Given the description of an element on the screen output the (x, y) to click on. 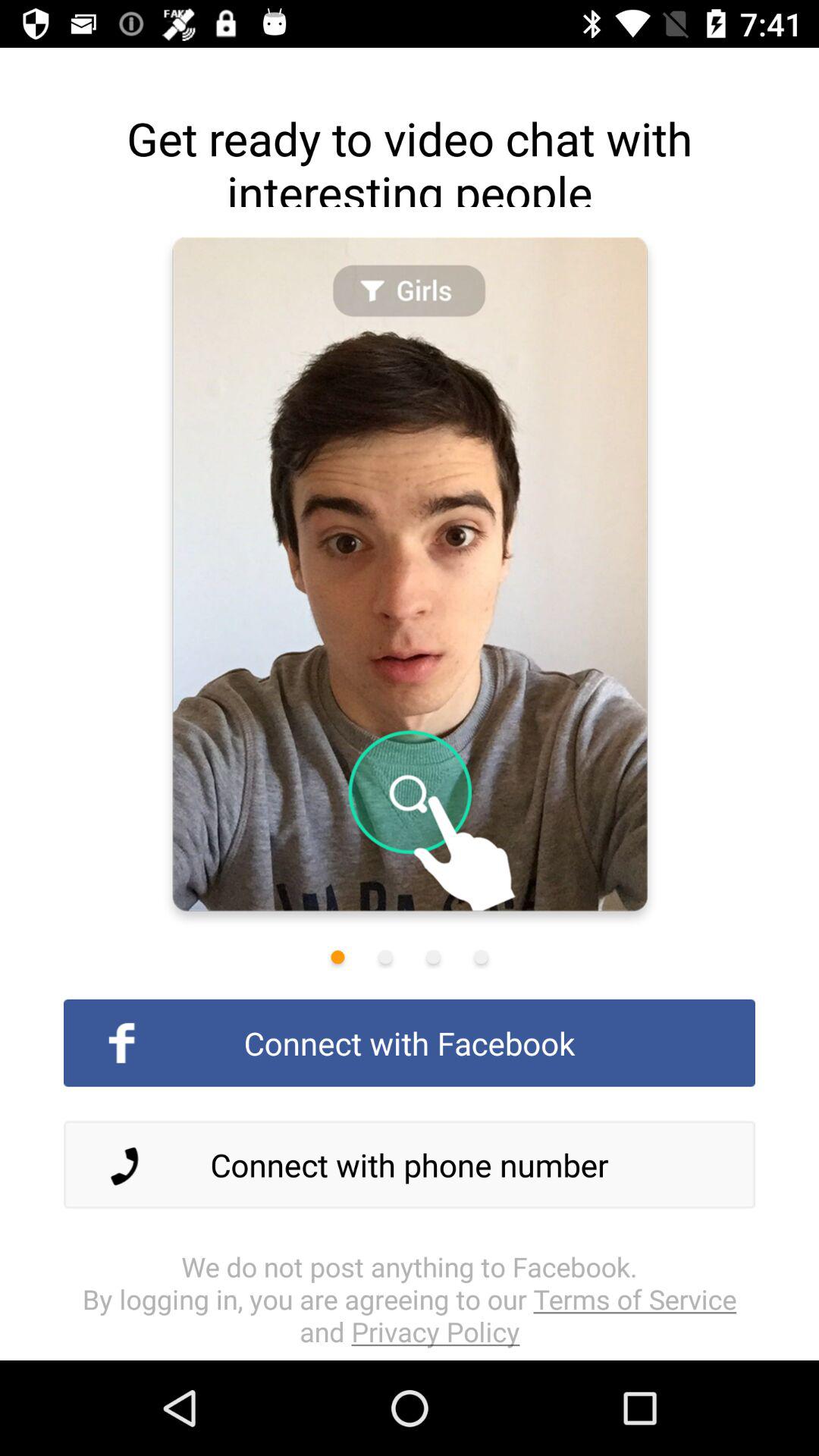
change photo (480, 957)
